Given the description of an element on the screen output the (x, y) to click on. 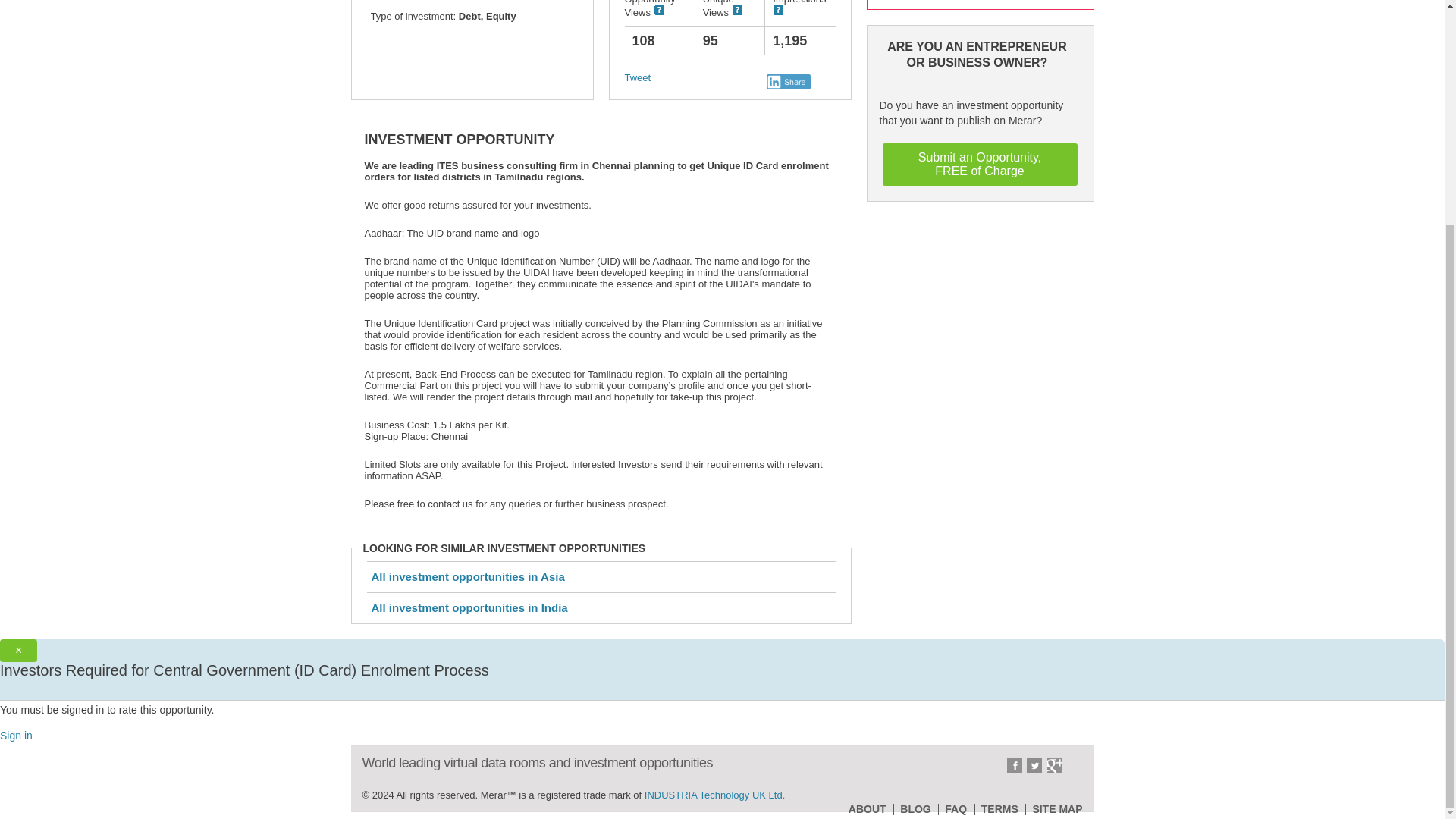
INDUSTRIA Technology UK Ltd. (714, 795)
BLOG (914, 808)
Share (788, 81)
Views: number of times the opportunity page has been visited (659, 9)
Sign in (16, 735)
All investment opportunities in India (468, 607)
Tweet (637, 78)
TERMS (979, 164)
